Given the description of an element on the screen output the (x, y) to click on. 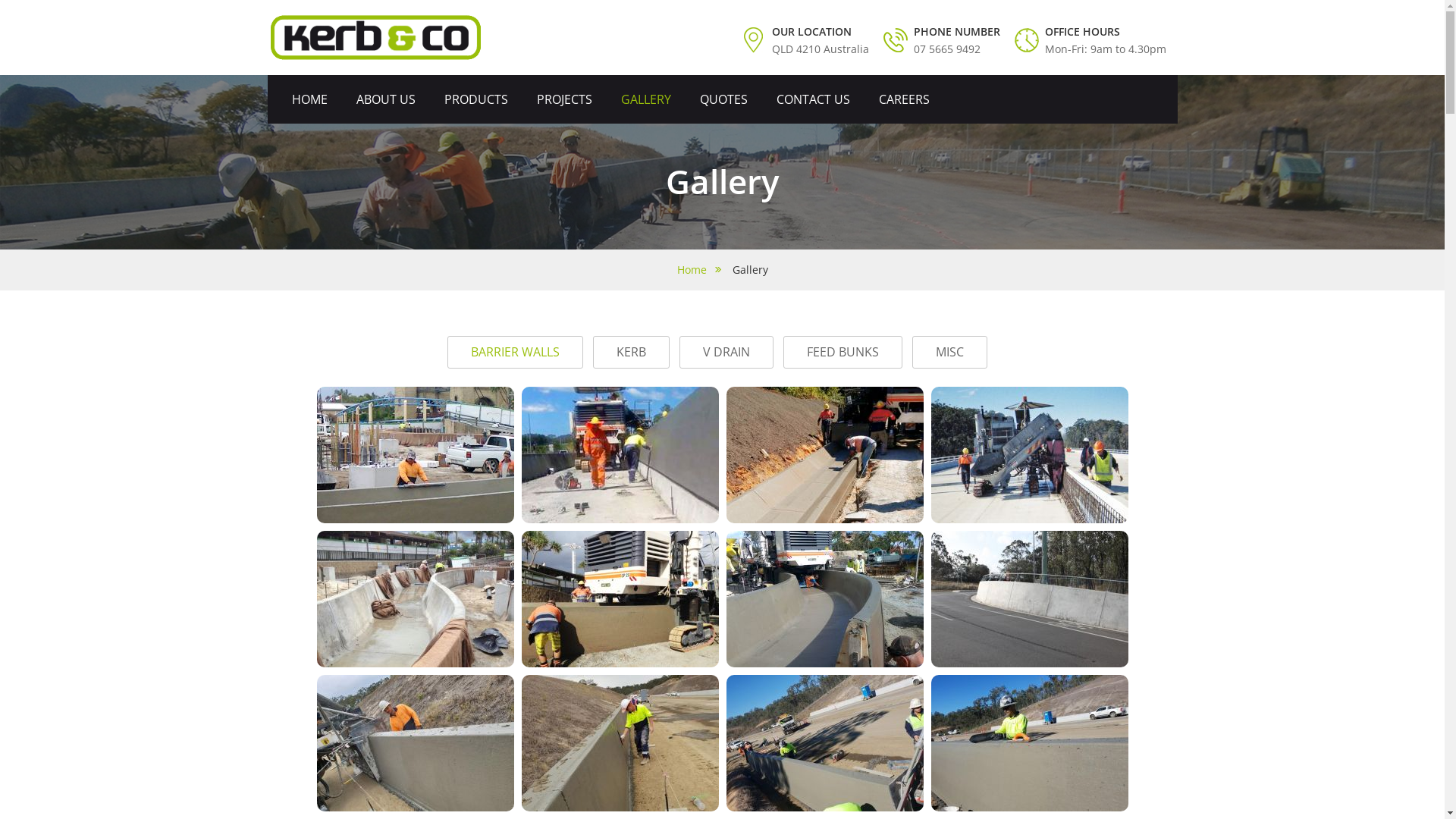
ABOUT US Element type: text (385, 99)
CONTACT US Element type: text (813, 99)
KERB Element type: text (630, 351)
HOME Element type: text (308, 99)
MISC Element type: text (949, 351)
CAREERS Element type: text (903, 99)
GALLERY Element type: text (644, 99)
FEED BUNKS Element type: text (842, 351)
V DRAIN Element type: text (726, 351)
BARRIER WALLS Element type: text (515, 351)
PRODUCTS Element type: text (475, 99)
Home Element type: text (698, 269)
PROJECTS Element type: text (564, 99)
QUOTES Element type: text (722, 99)
